Given the description of an element on the screen output the (x, y) to click on. 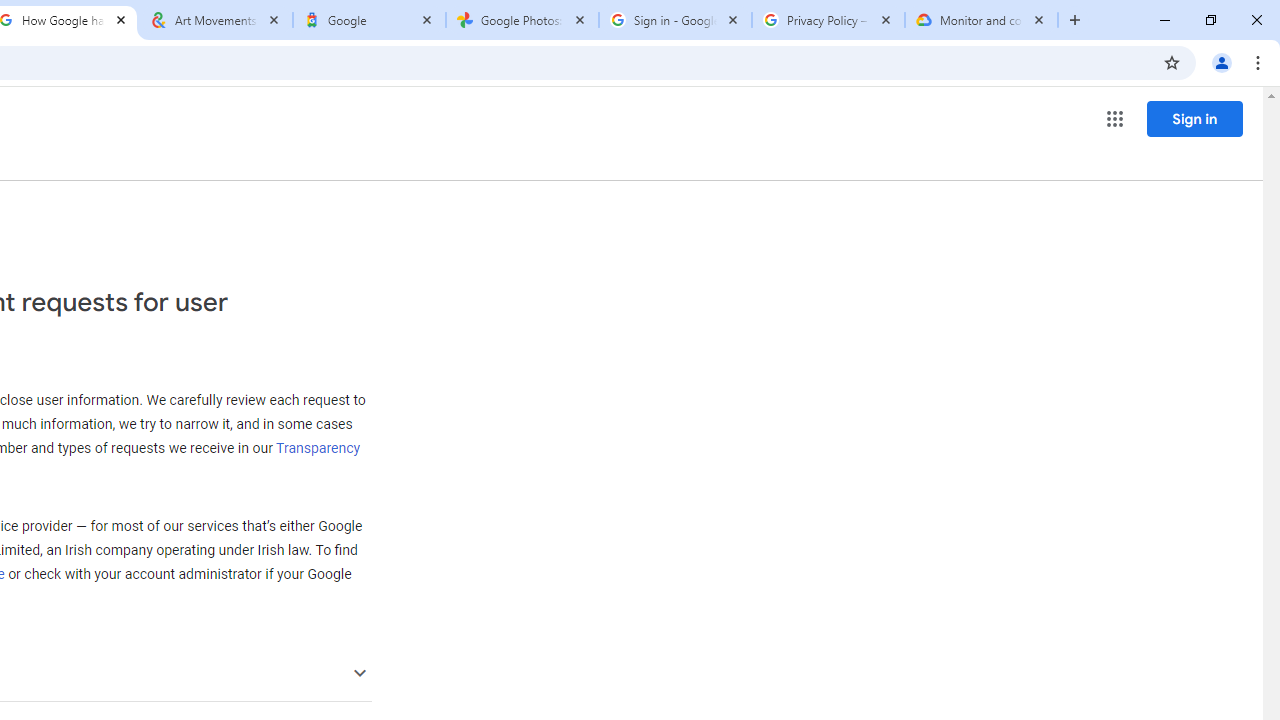
Sign in - Google Accounts (675, 20)
Google (369, 20)
